Given the description of an element on the screen output the (x, y) to click on. 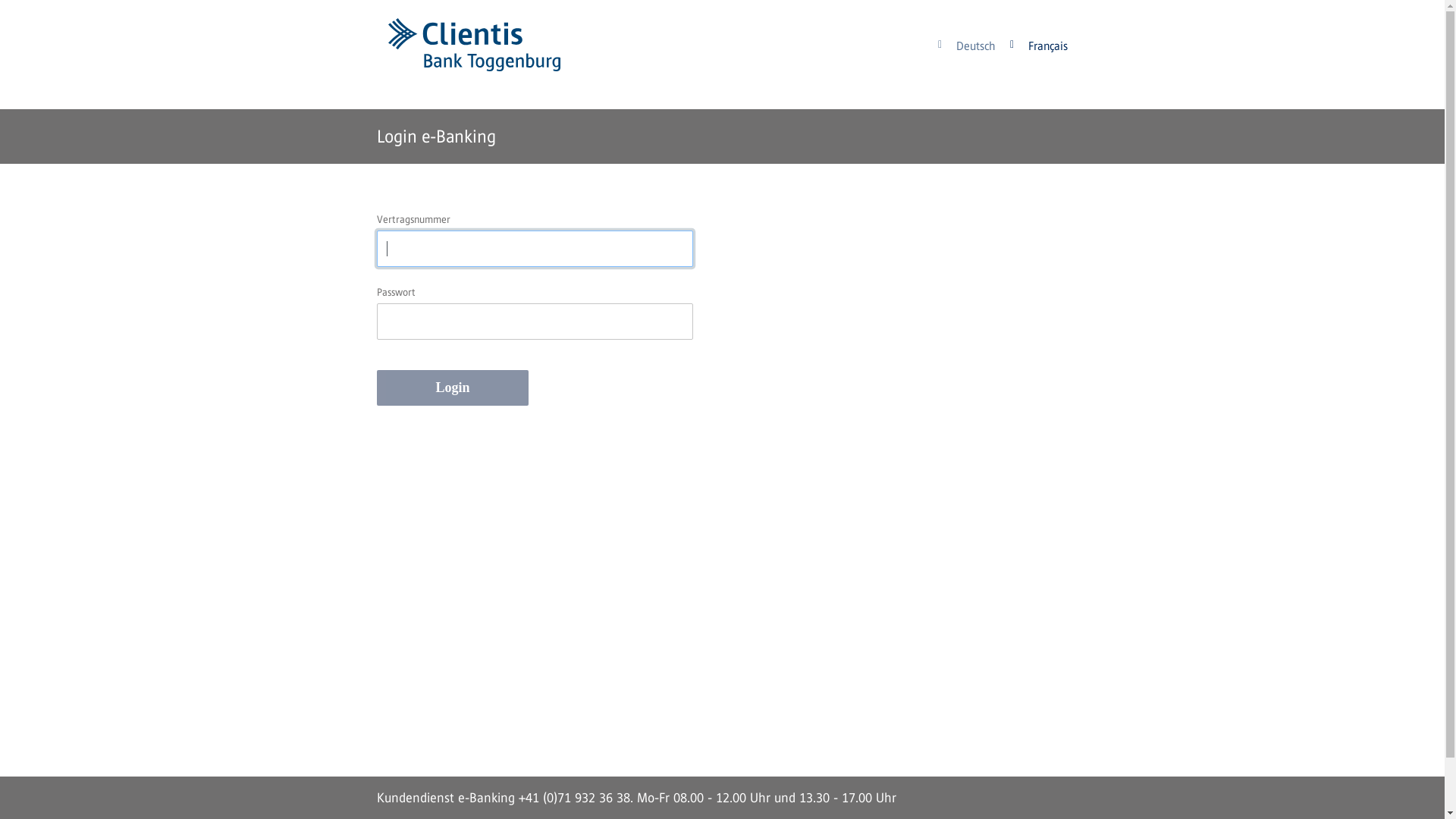
Deutsch Element type: text (966, 45)
Login Element type: text (452, 387)
